Given the description of an element on the screen output the (x, y) to click on. 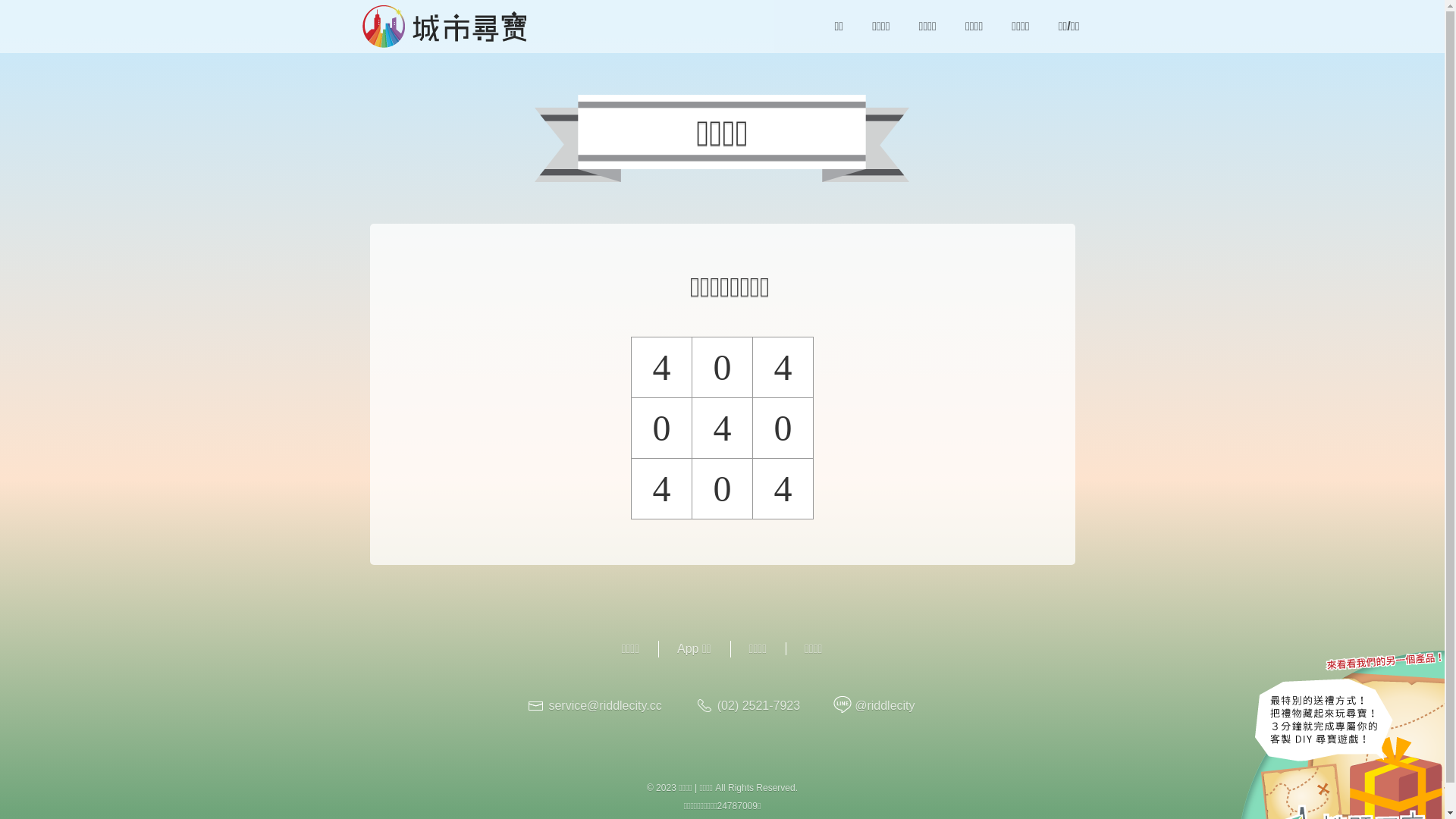
(02) 2521-7923 Element type: text (758, 705)
service@riddlecity.cc Element type: text (604, 705)
@riddlecity Element type: text (884, 705)
